Given the description of an element on the screen output the (x, y) to click on. 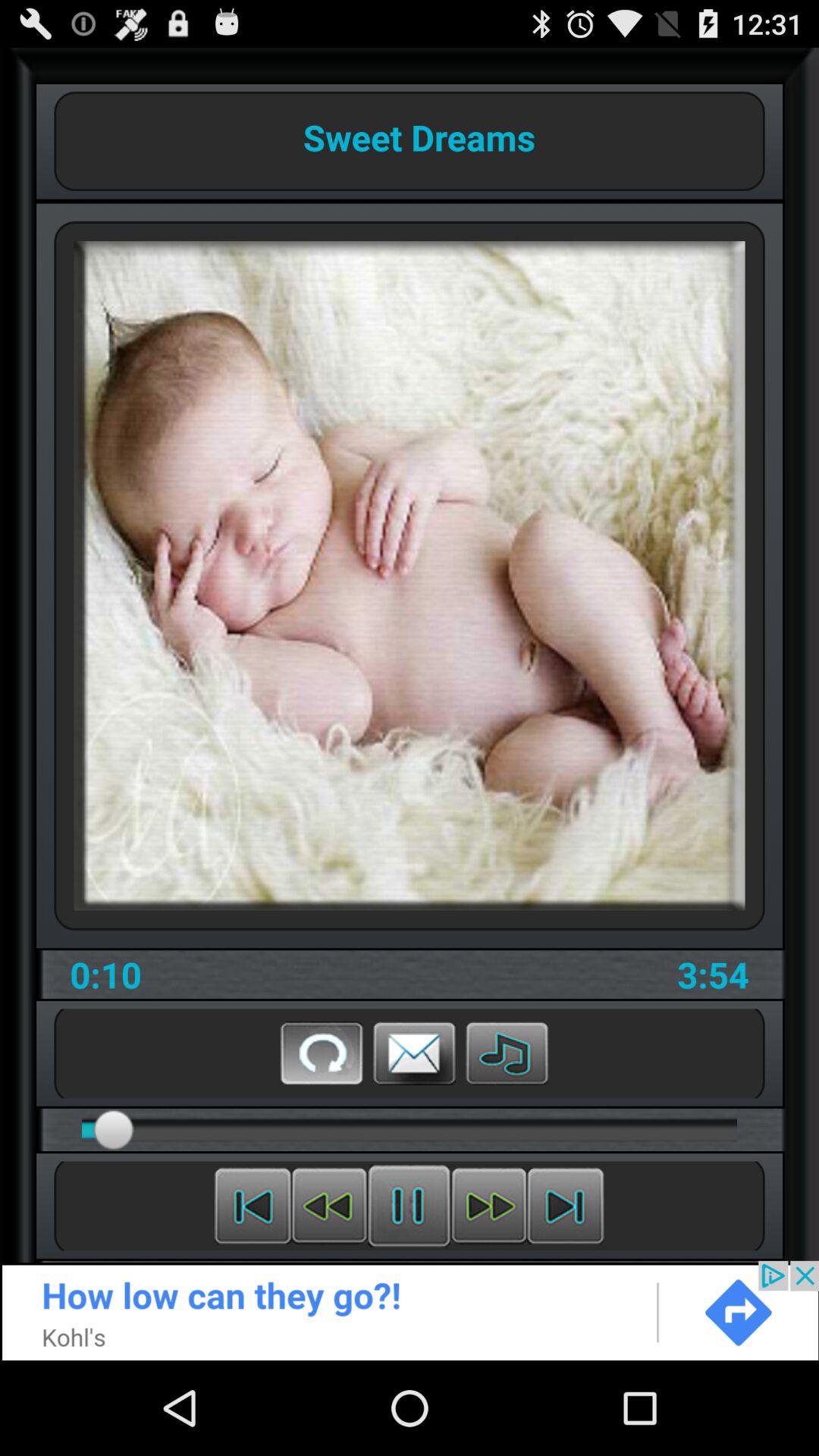
message button (414, 1053)
